Given the description of an element on the screen output the (x, y) to click on. 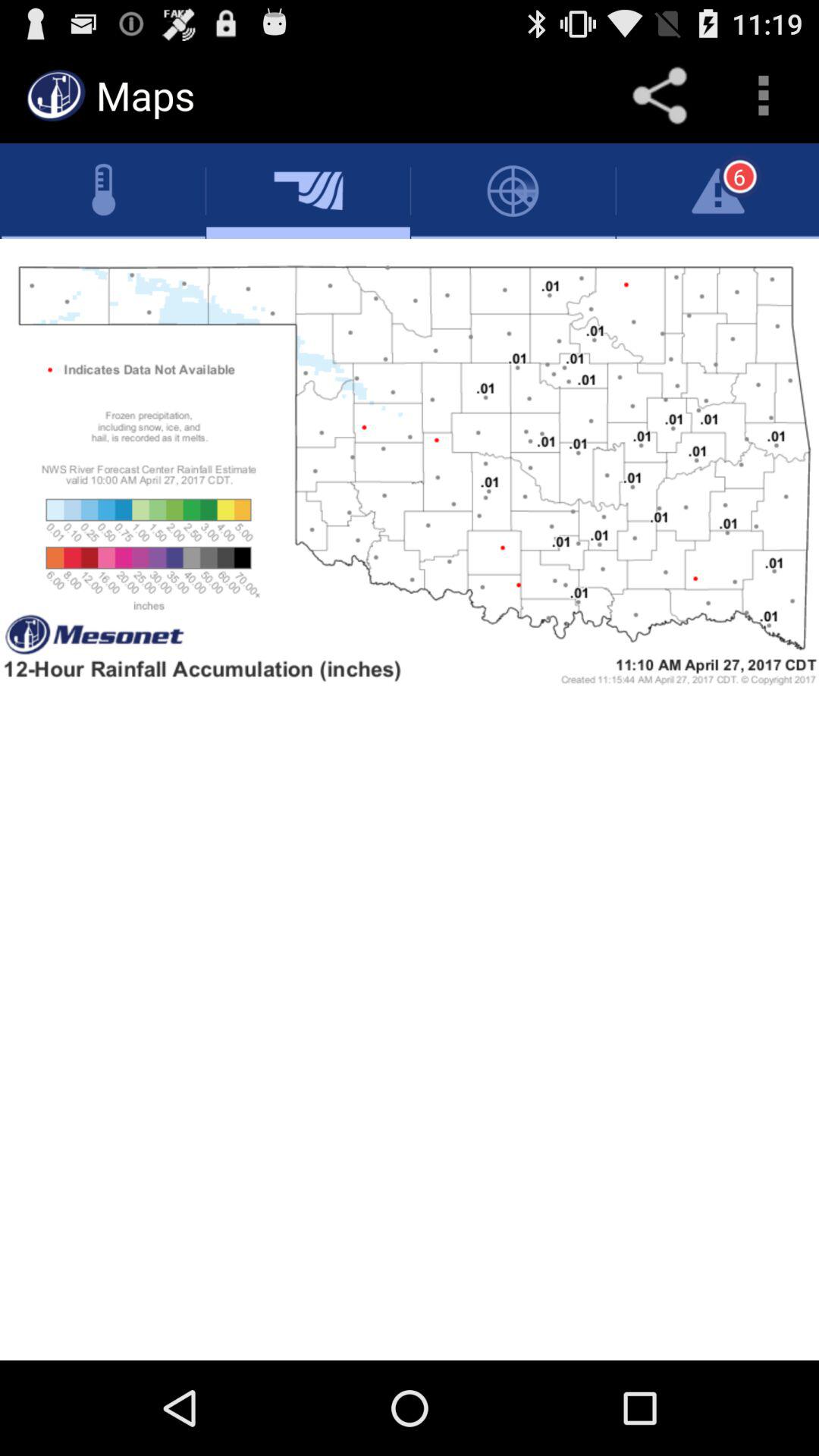
sharing files (659, 95)
